Given the description of an element on the screen output the (x, y) to click on. 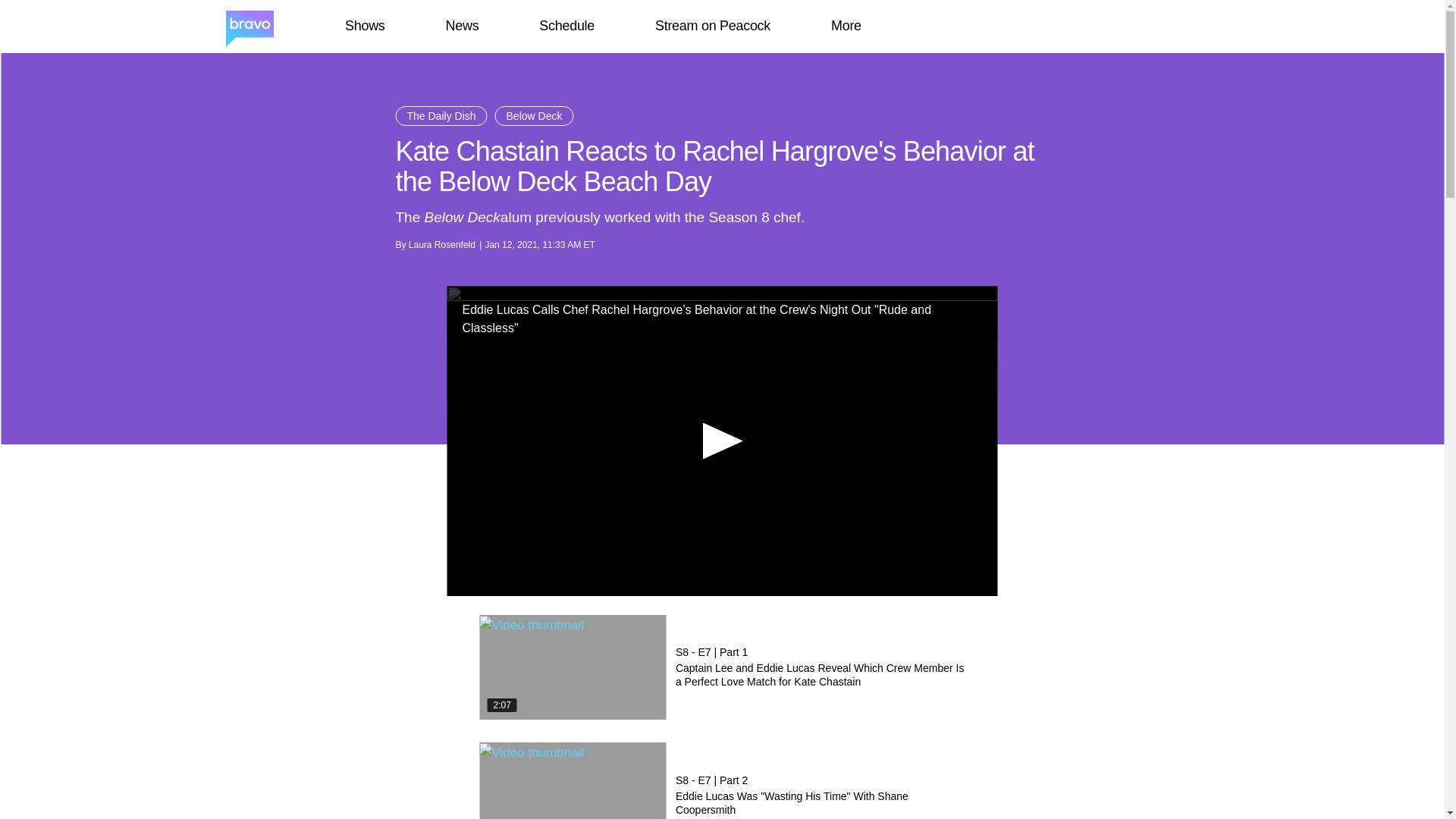
News (462, 26)
Stream on Peacock (712, 26)
Schedule (566, 26)
Below Deck (534, 116)
Laura Rosenfeld (442, 244)
Shows (363, 26)
More (846, 26)
Home (249, 26)
The Daily Dish (441, 116)
